Given the description of an element on the screen output the (x, y) to click on. 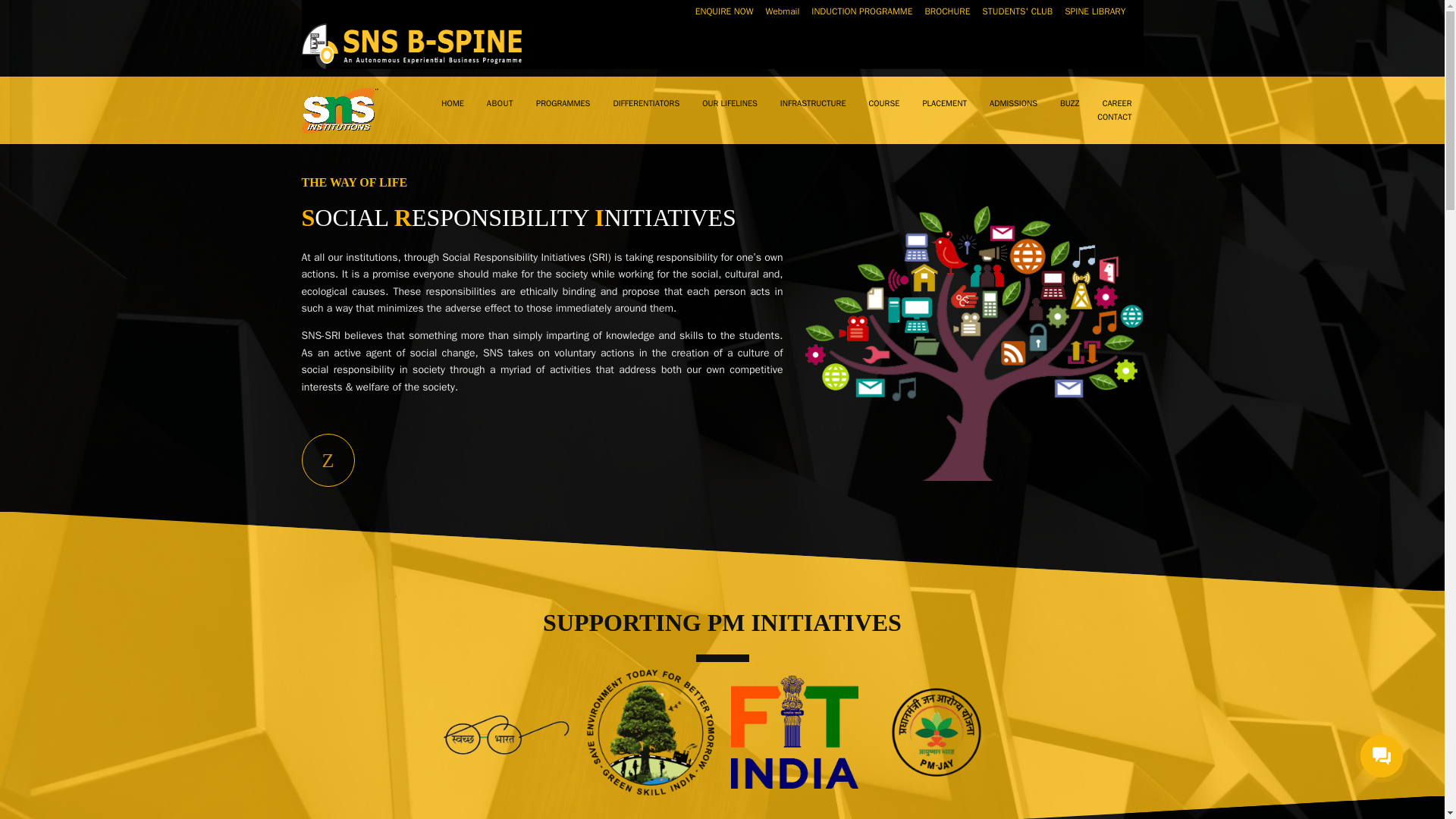
PROGRAMMES (562, 103)
CONTACT (1114, 117)
PLACEMENT (943, 103)
ABOUT (499, 103)
SPINE LIBRARY (1094, 11)
BROCHURE (946, 11)
STUDENTS' CLUB (1016, 11)
HOME (452, 103)
BUZZ (1069, 103)
OUR LIFELINES (729, 103)
Webmail (783, 11)
INDUCTION PROGRAMME (861, 11)
COURSE (884, 103)
DIFFERENTIATORS (645, 103)
